Given the description of an element on the screen output the (x, y) to click on. 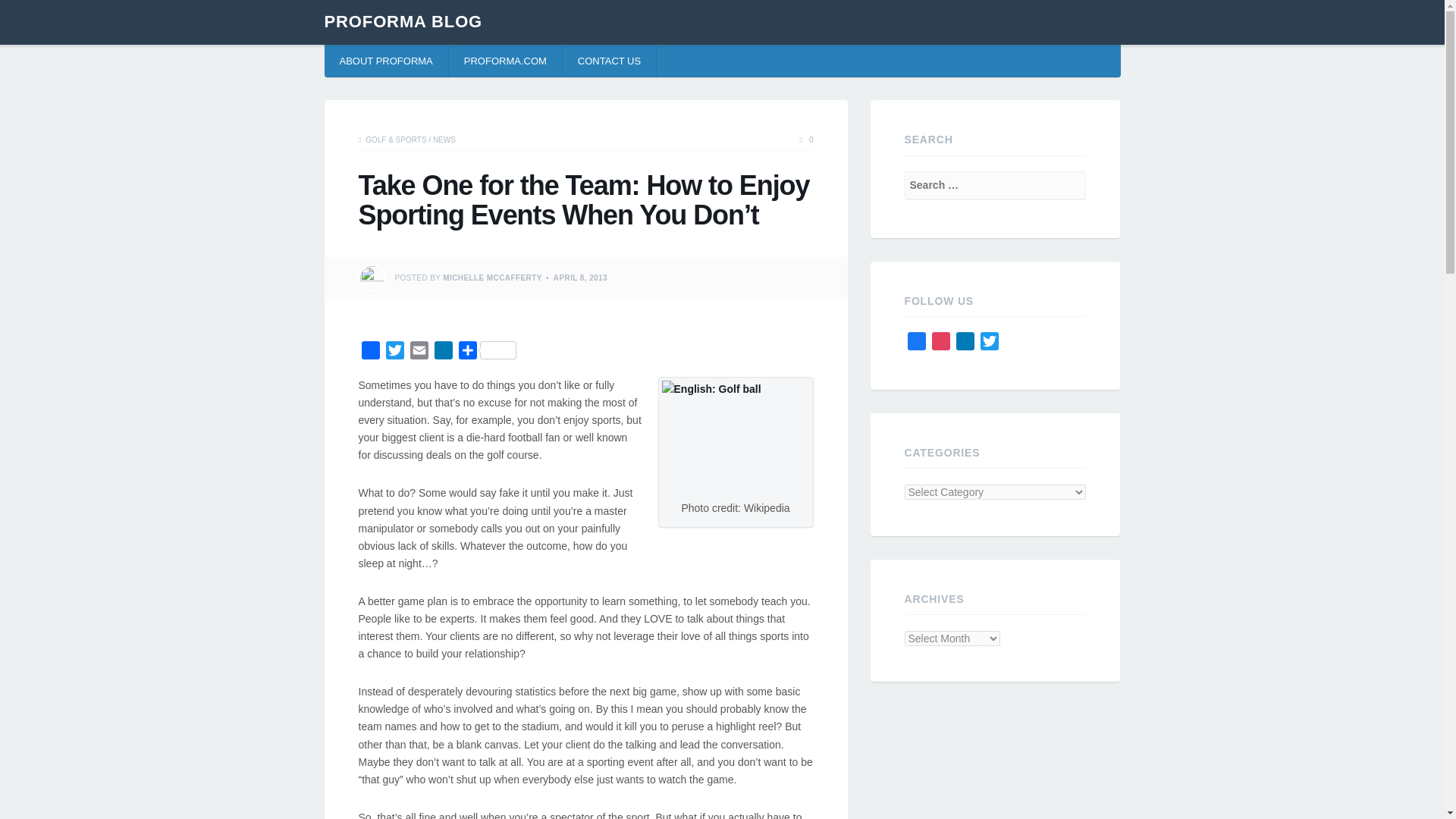
Facebook (369, 352)
Twitter (393, 352)
Instagram (940, 343)
NEWS (443, 139)
MICHELLE MCCAFFERTY (491, 277)
Twitter (988, 343)
View all posts by Michelle McCafferty (491, 277)
Search (33, 14)
LinkedIn (964, 343)
LinkedIn (442, 352)
